Given the description of an element on the screen output the (x, y) to click on. 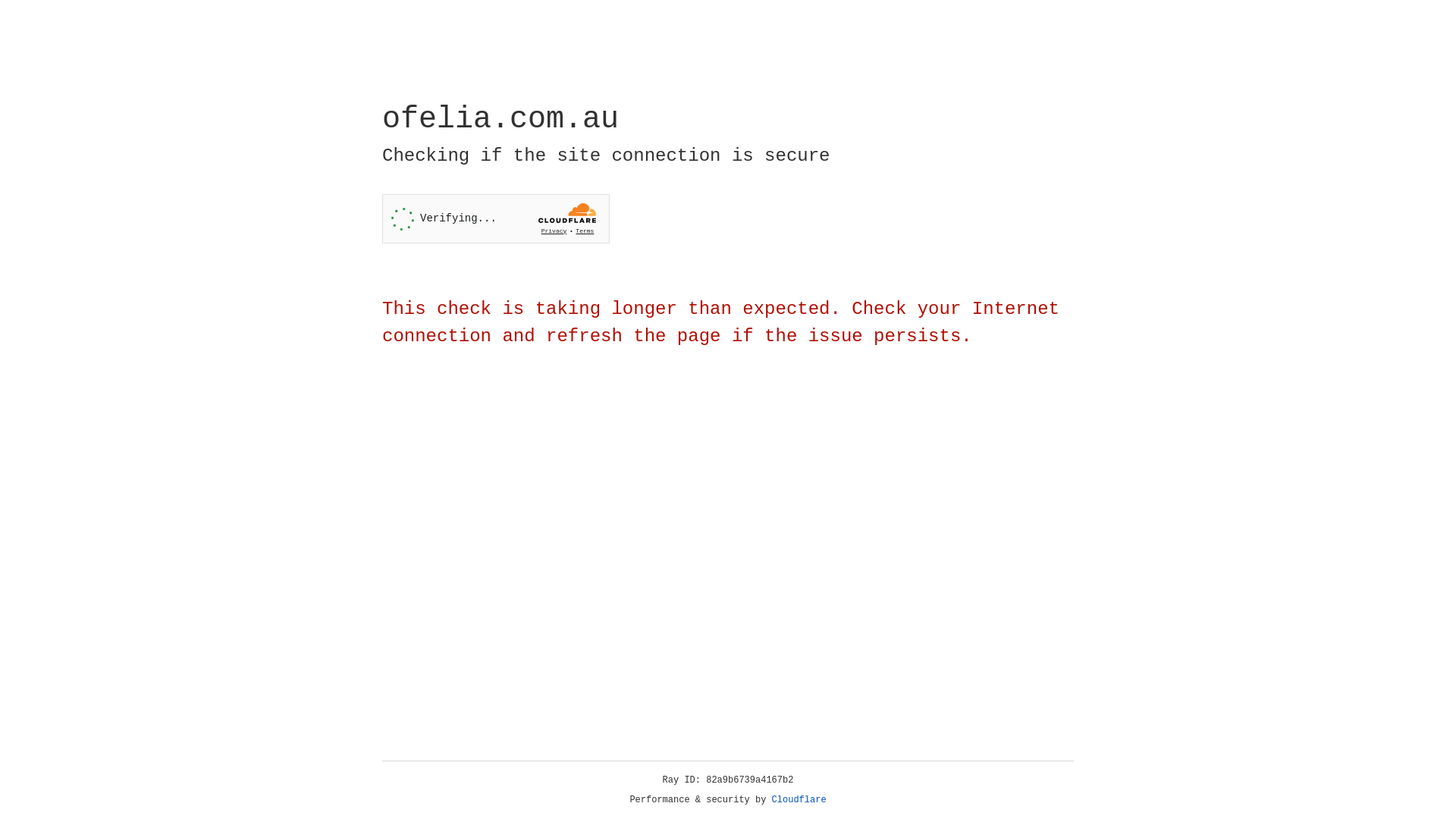
Widget containing a Cloudflare security challenge Element type: hover (495, 218)
Cloudflare Element type: text (798, 799)
